Given the description of an element on the screen output the (x, y) to click on. 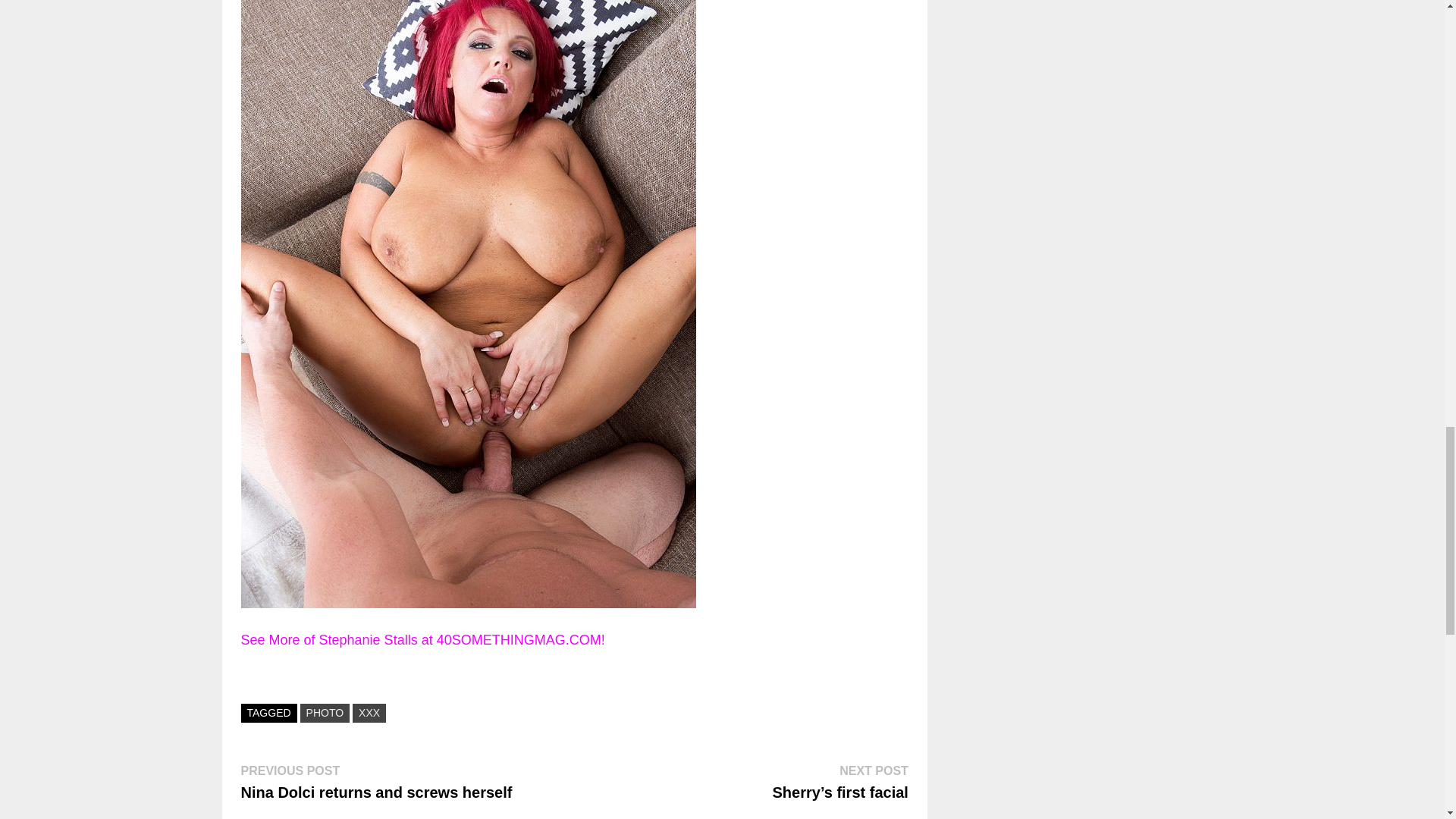
PHOTO (324, 712)
XXX (368, 712)
See More of Stephanie Stalls at 40SOMETHINGMAG.COM! (423, 639)
